Given the description of an element on the screen output the (x, y) to click on. 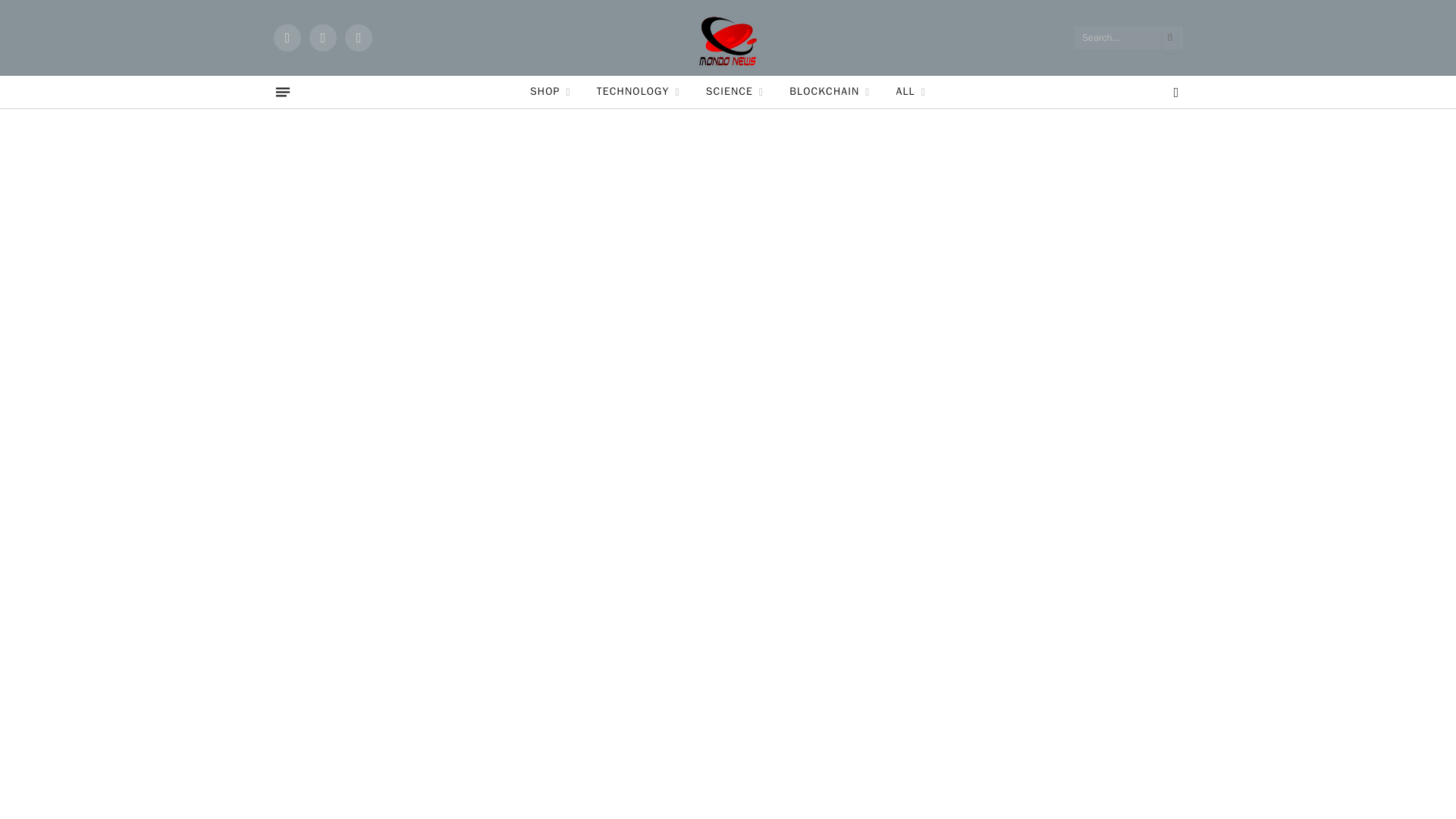
SHOP (549, 92)
Instagram (357, 37)
Facebook (287, 37)
TECHNOLOGY (638, 92)
